Given the description of an element on the screen output the (x, y) to click on. 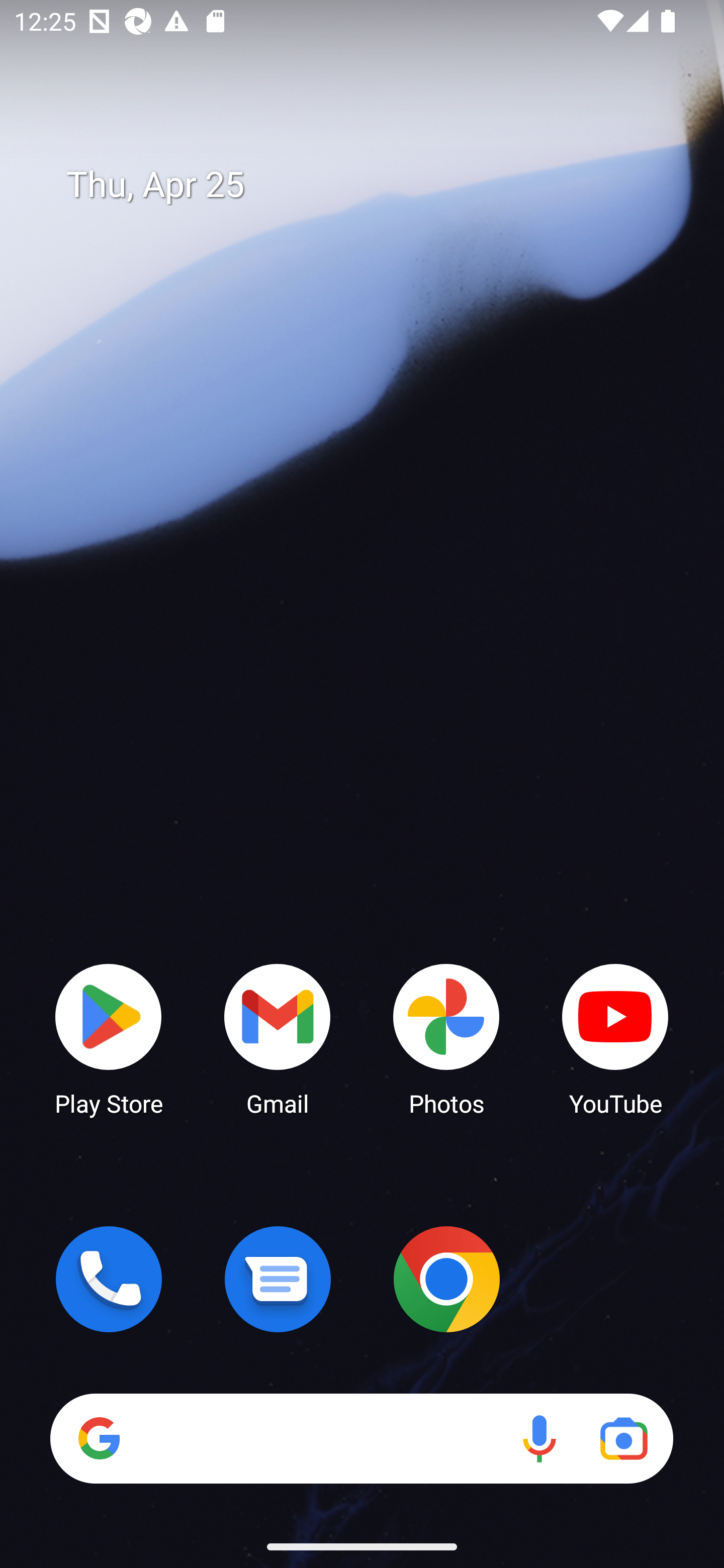
Thu, Apr 25 (375, 184)
Play Store (108, 1038)
Gmail (277, 1038)
Photos (445, 1038)
YouTube (615, 1038)
Phone (108, 1279)
Messages (277, 1279)
Chrome (446, 1279)
Search Voice search Google Lens (361, 1438)
Voice search (539, 1438)
Google Lens (623, 1438)
